Given the description of an element on the screen output the (x, y) to click on. 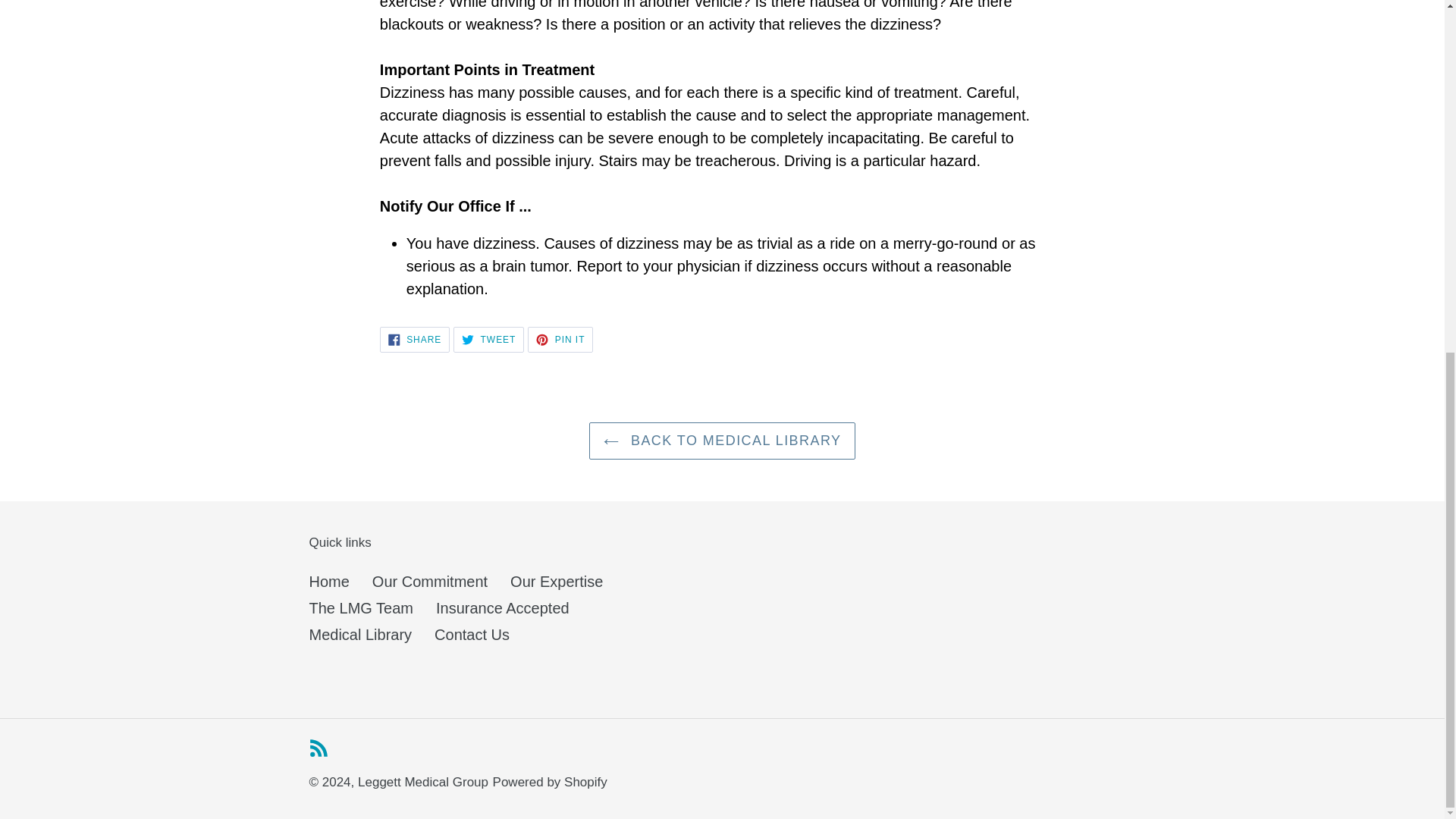
Medical Library (360, 634)
Home (328, 581)
The LMG Team (360, 607)
Contact Us (471, 634)
Our Commitment (559, 339)
Leggett Medical Group (414, 339)
BACK TO MEDICAL LIBRARY (429, 581)
